Given the description of an element on the screen output the (x, y) to click on. 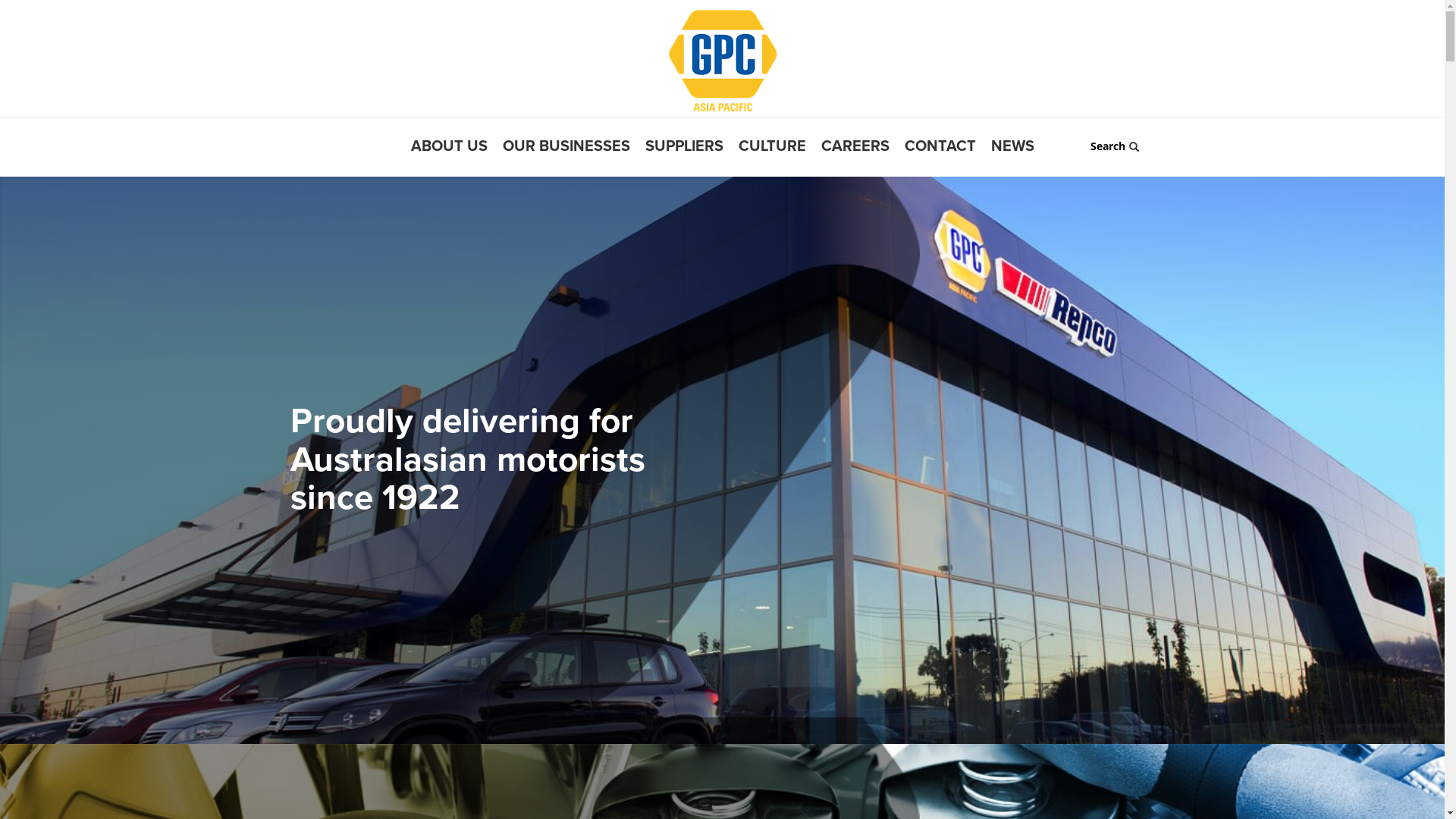
GPC Asia Pacific Element type: text (722, 61)
OUR BUSINESSES Element type: text (573, 147)
SUPPLIERS Element type: text (690, 147)
CAREERS Element type: text (861, 147)
ABOUT US Element type: text (456, 147)
CONTACT Element type: text (946, 147)
CULTURE Element type: text (779, 147)
NEWS Element type: text (1011, 147)
